Given the description of an element on the screen output the (x, y) to click on. 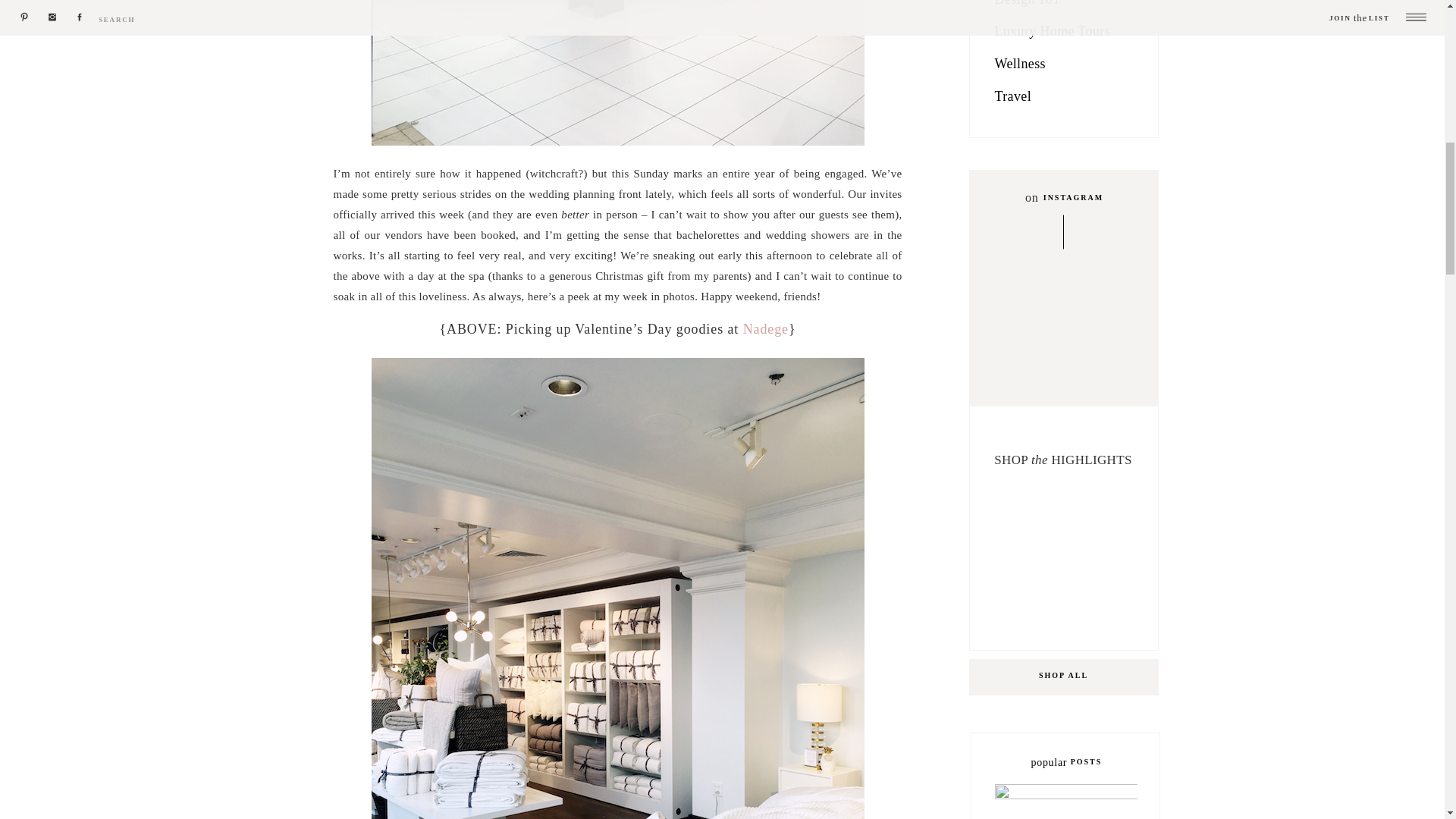
Travel (1067, 99)
Luxury Home Tours (1067, 33)
INSTAGRAM (1073, 198)
on (1029, 195)
SHOP ALL (1063, 676)
Wellness (1067, 66)
Design 101 (1056, 7)
